Given the description of an element on the screen output the (x, y) to click on. 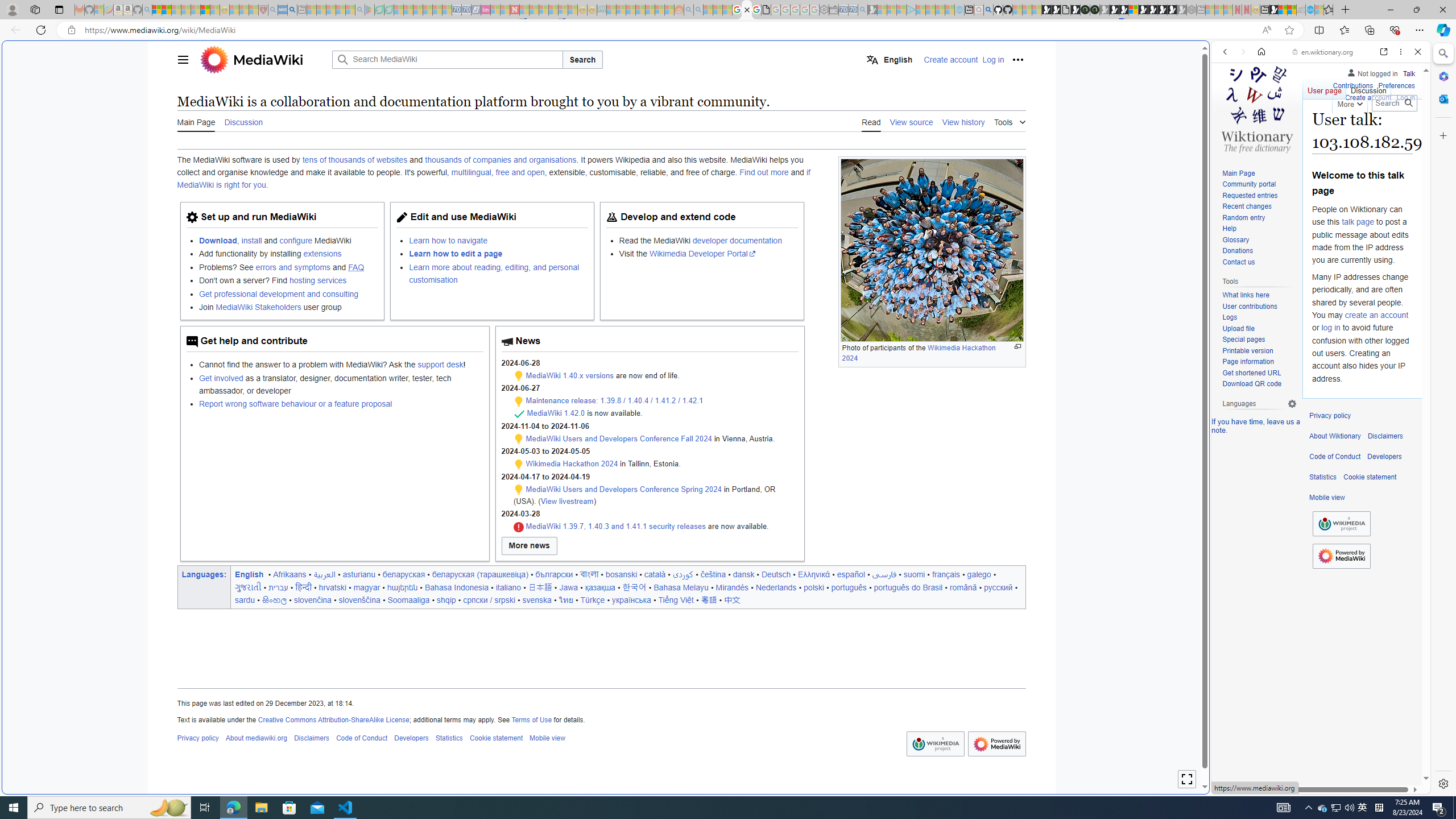
errors and symptoms (292, 266)
Glossary (1259, 240)
Contact us (1238, 261)
MediaWiki 1.42.0 (556, 412)
Search Wiktionary (1393, 103)
Learn how to edit a page (455, 253)
View source (911, 120)
Toggle limited content width (1186, 778)
Random entry (1243, 216)
